Given the description of an element on the screen output the (x, y) to click on. 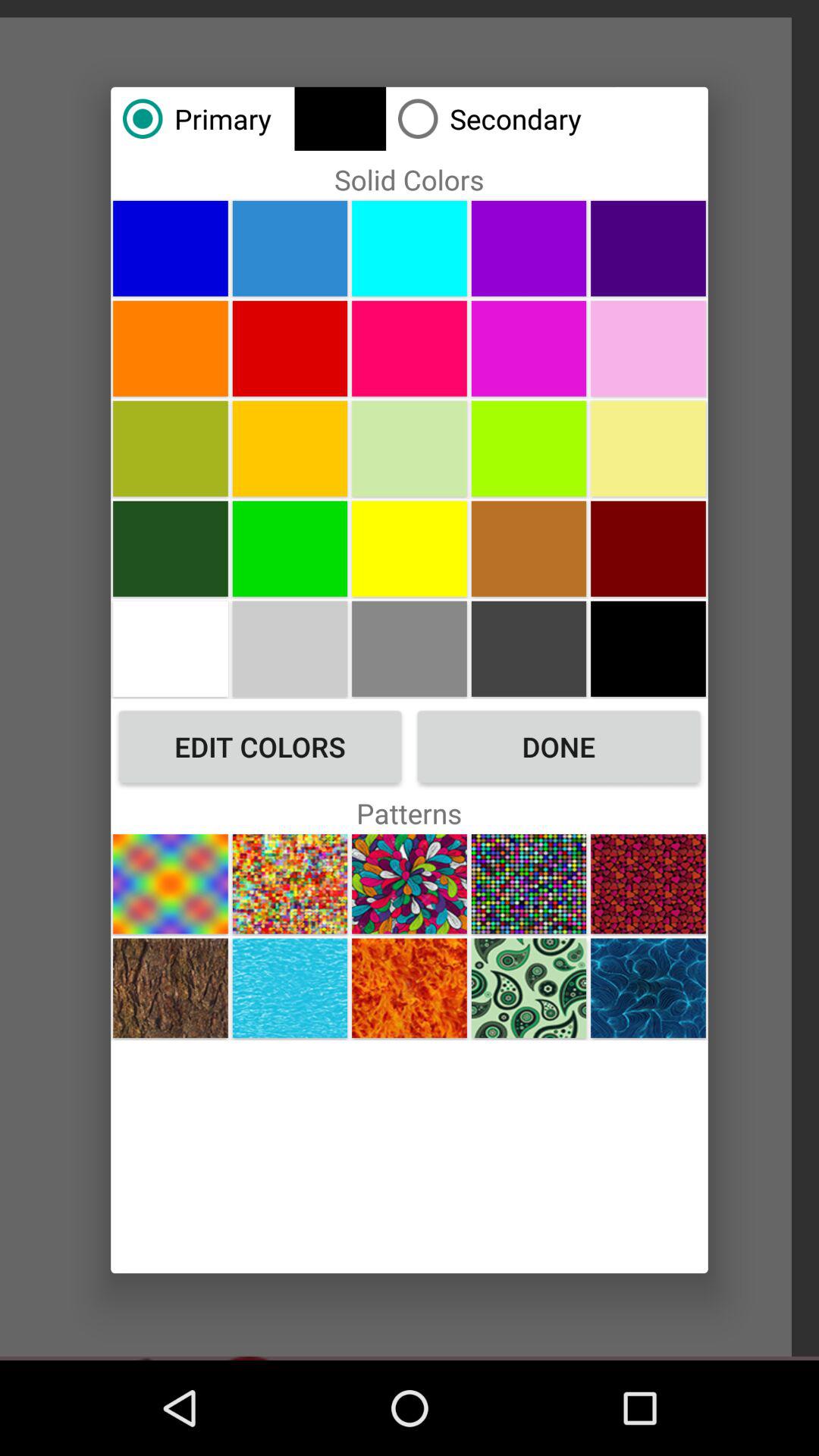
select color green (289, 548)
